Given the description of an element on the screen output the (x, y) to click on. 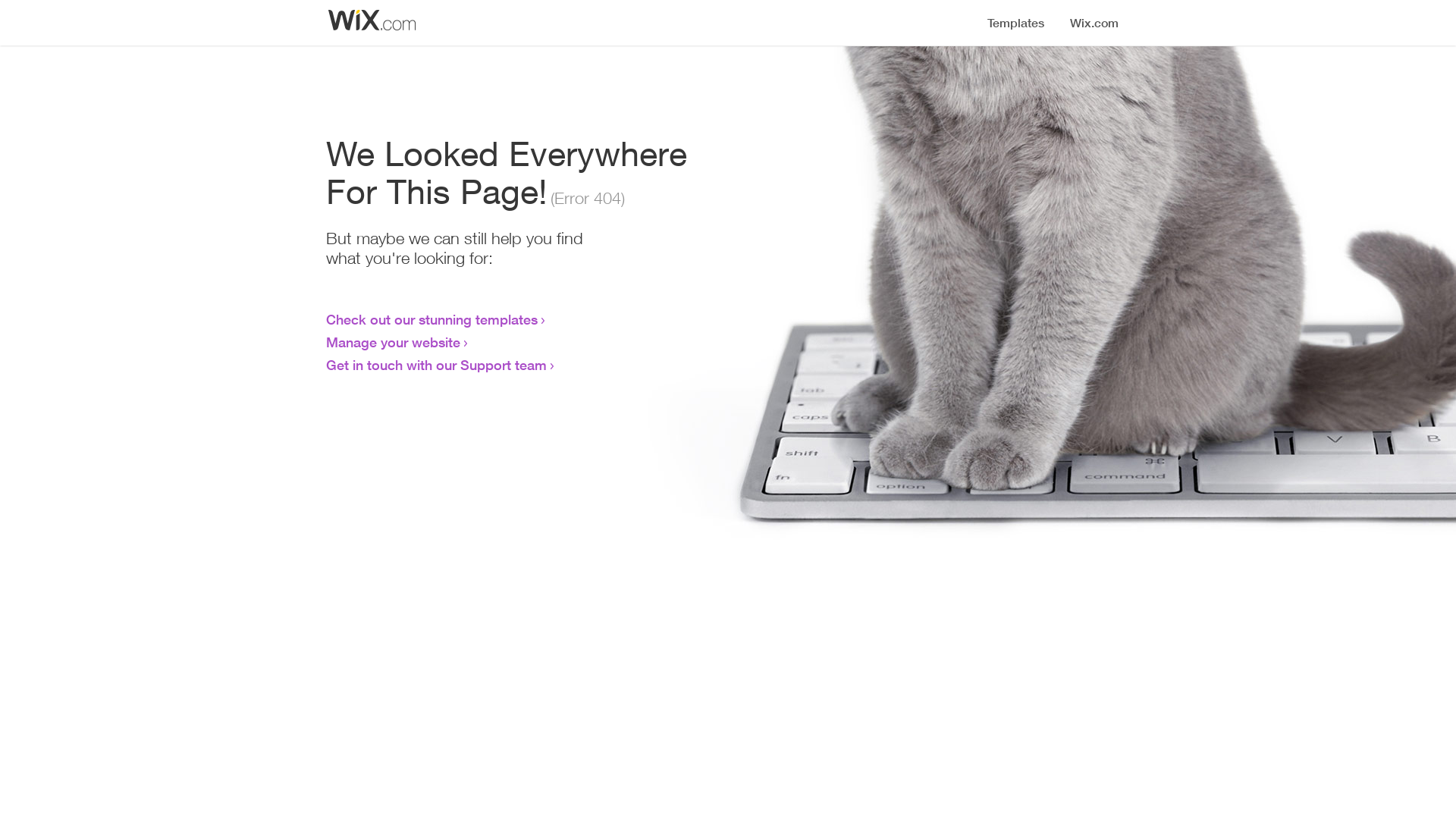
Manage your website Element type: text (393, 341)
Get in touch with our Support team Element type: text (436, 364)
Check out our stunning templates Element type: text (431, 318)
